Given the description of an element on the screen output the (x, y) to click on. 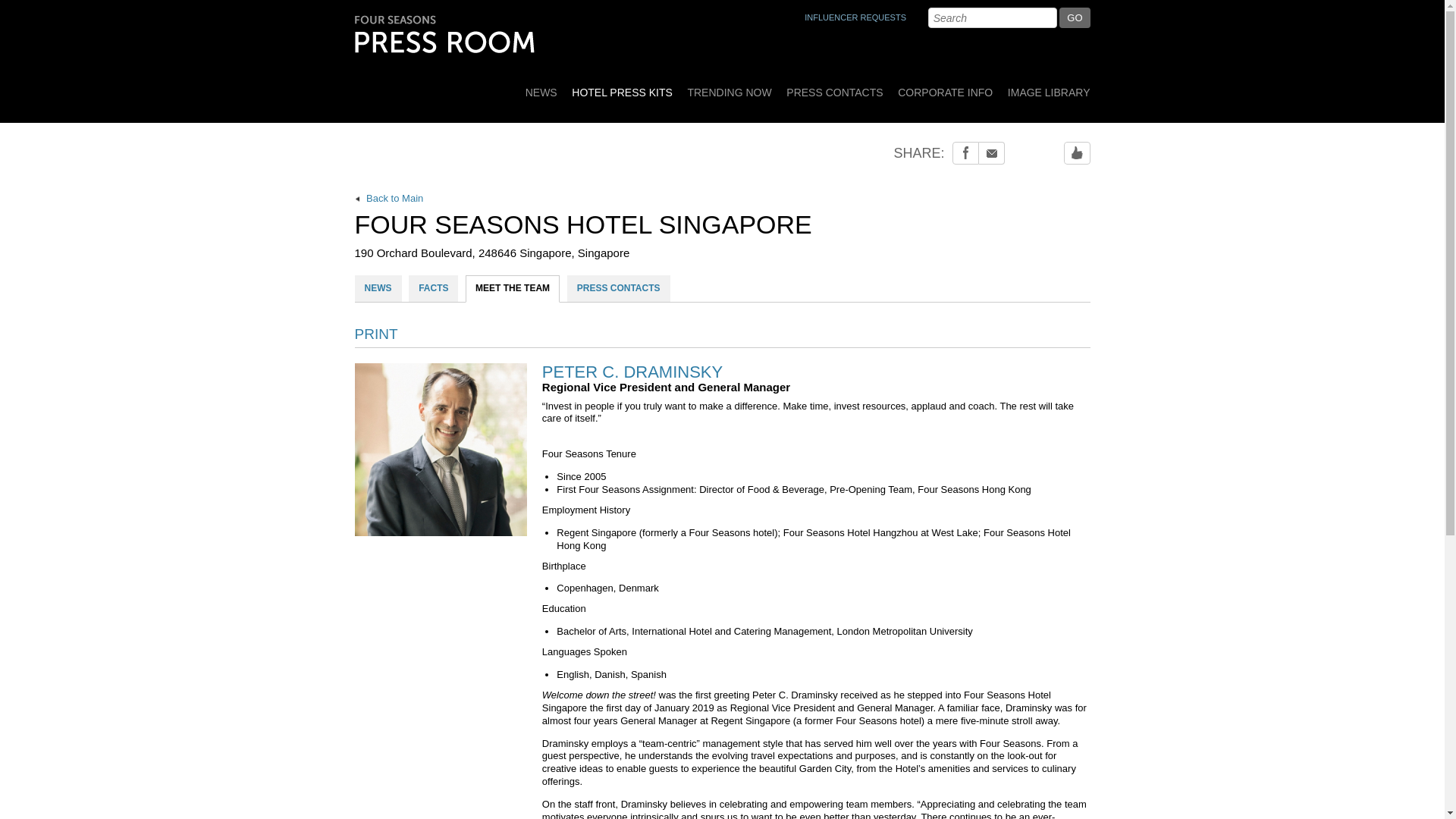
NEWS (541, 87)
CORPORATE INFO (944, 87)
MEET THE TEAM (512, 288)
PRESS CONTACTS (618, 288)
Back to Main (722, 198)
HOTEL PRESS KITS (622, 87)
TRENDING NOW (729, 87)
NEWS (378, 288)
PRESS CONTACTS (834, 87)
GO (1074, 17)
